Given the description of an element on the screen output the (x, y) to click on. 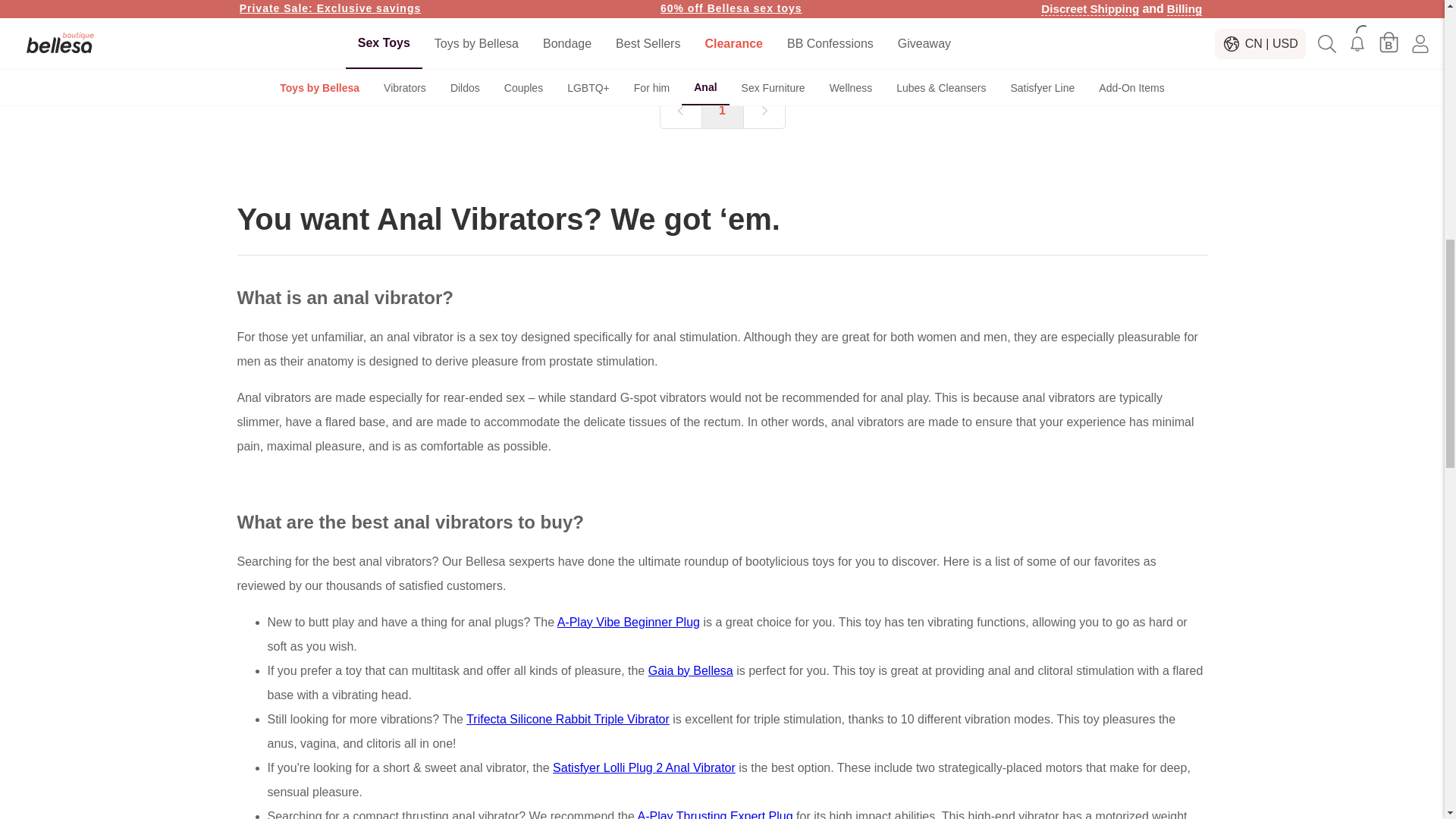
Previous page (680, 110)
Next page (764, 110)
